Given the description of an element on the screen output the (x, y) to click on. 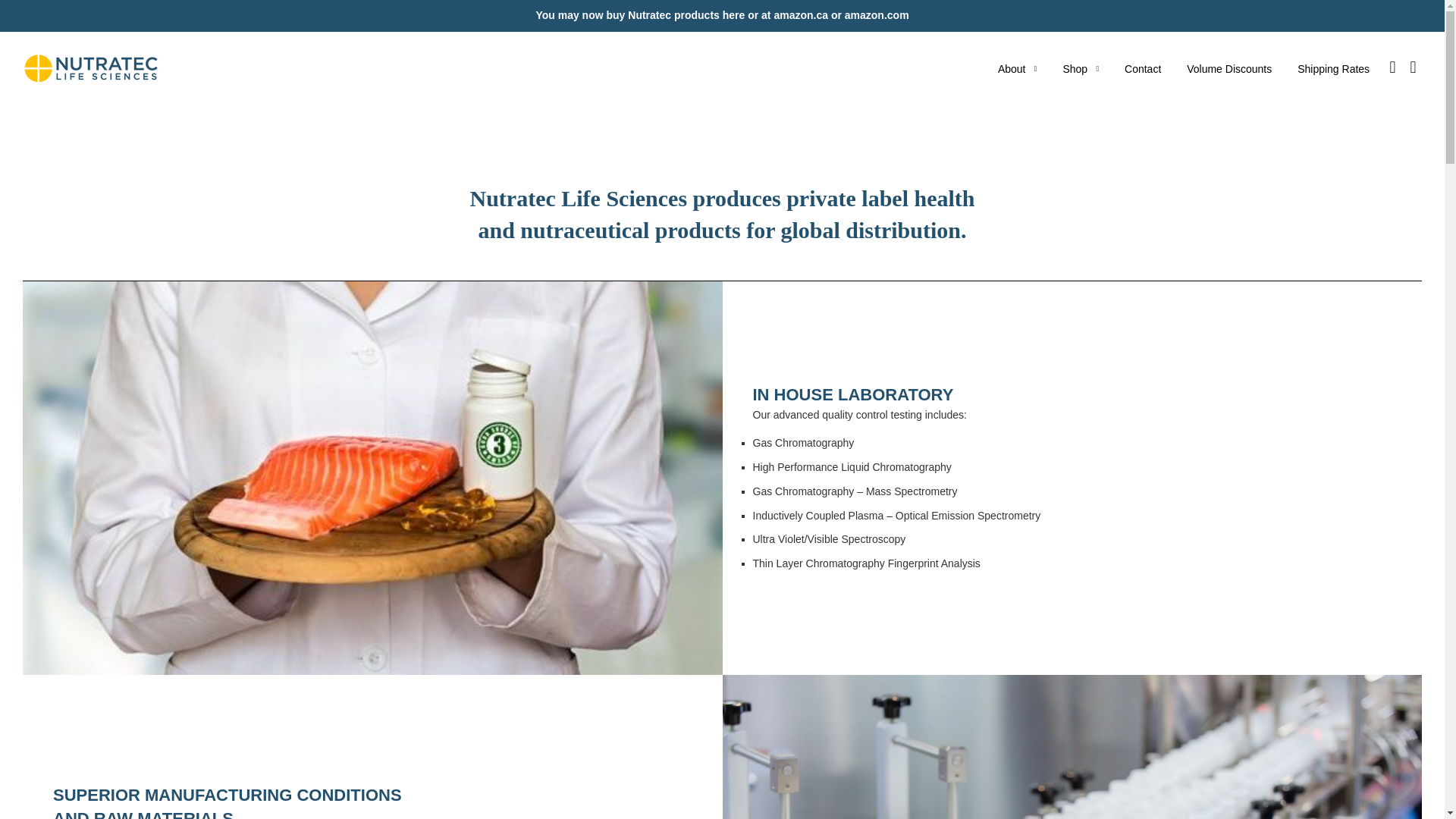
About (1017, 69)
Contact (1142, 69)
Shipping Rates (1332, 69)
Volume Discounts (1228, 69)
Shop (1080, 69)
